Given the description of an element on the screen output the (x, y) to click on. 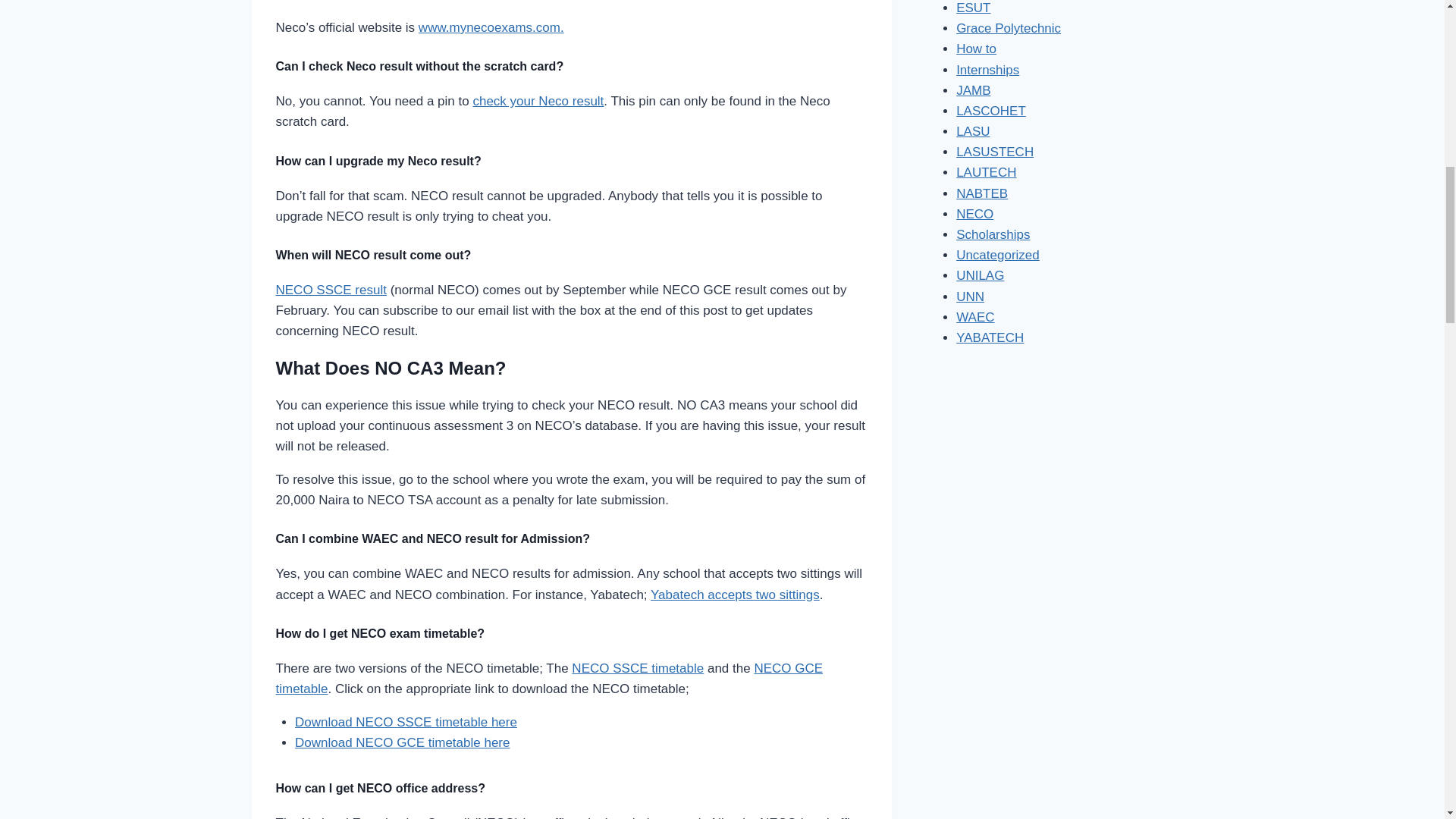
NECO GCE timetable (550, 678)
NECO SSCE timetable (637, 667)
Download NECO SSCE timetable here (405, 721)
Download NECO GCE timetable here (402, 742)
NECO SSCE result (331, 289)
www.mynecoexams.com. (491, 27)
Yabatech accepts two sittings (734, 594)
check your Neco result (537, 101)
